Given the description of an element on the screen output the (x, y) to click on. 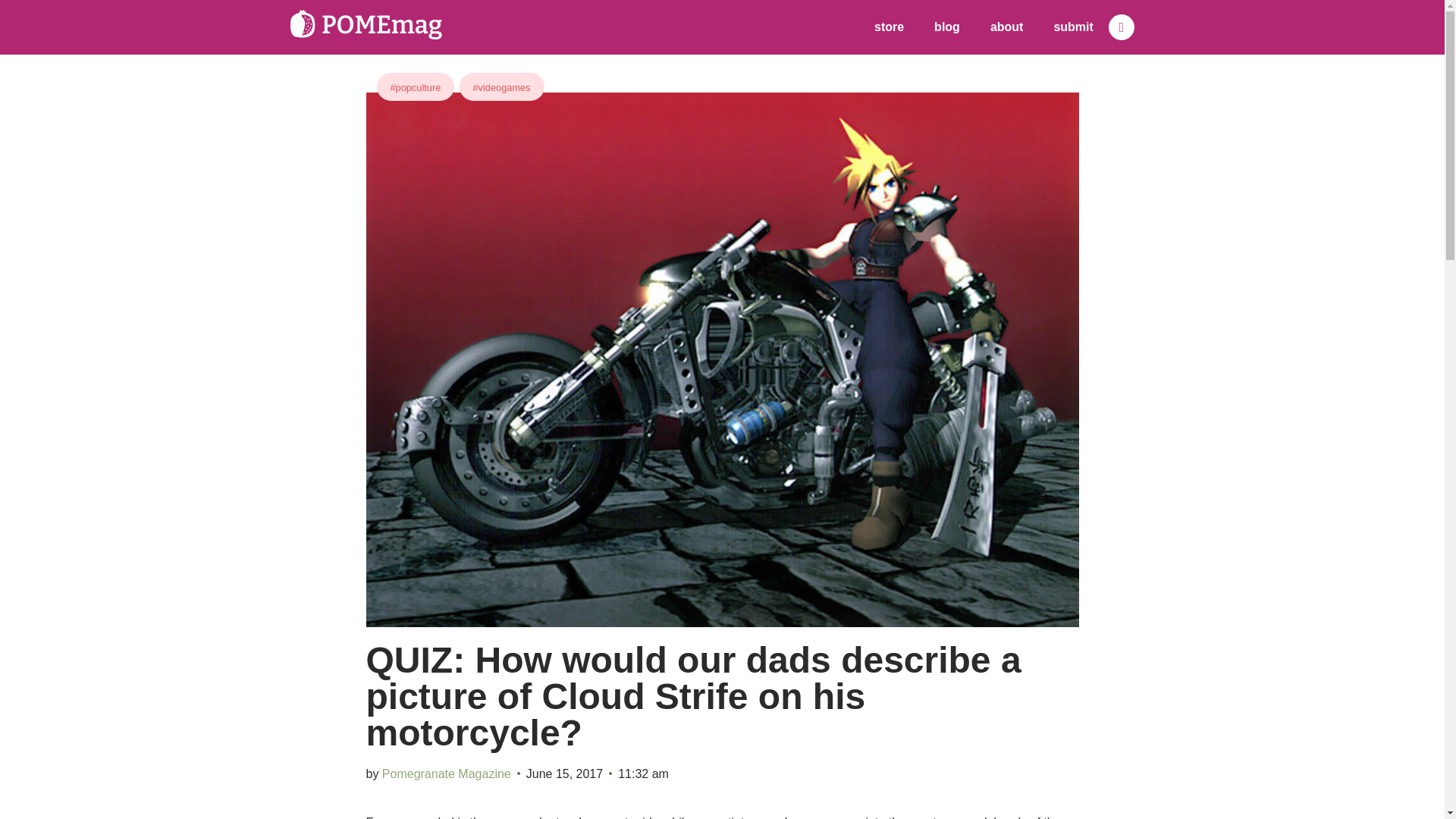
Group 2 (365, 23)
about (1007, 27)
June 15, 2017 (563, 773)
Posts by Pomegranate Magazine (446, 773)
store (888, 27)
blog (946, 27)
submit (1073, 27)
Pomegranate Magazine (446, 773)
